Given the description of an element on the screen output the (x, y) to click on. 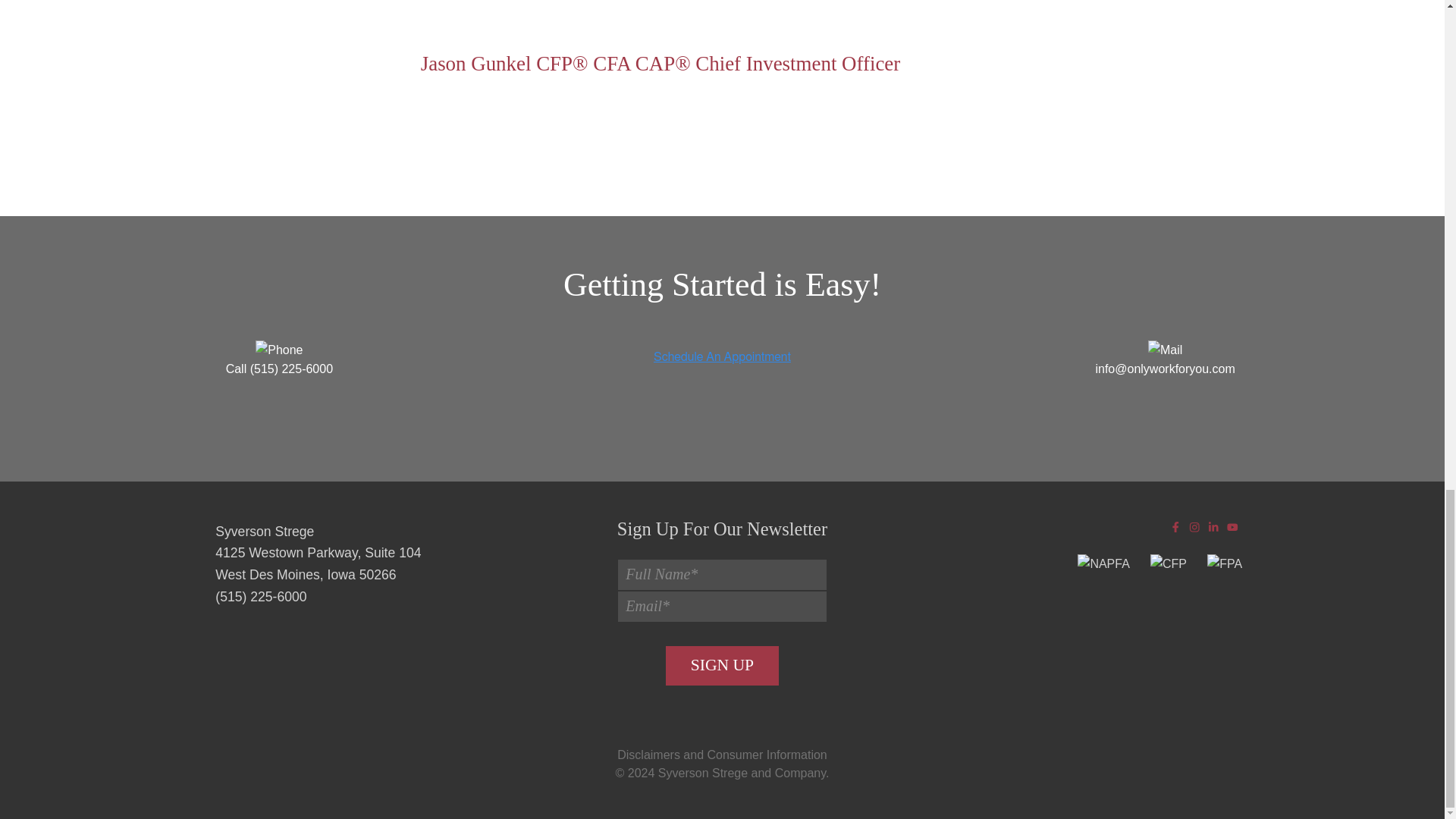
CFP (1168, 564)
Sign Up (721, 665)
NAPFA (1103, 564)
FPA (1224, 564)
